Given the description of an element on the screen output the (x, y) to click on. 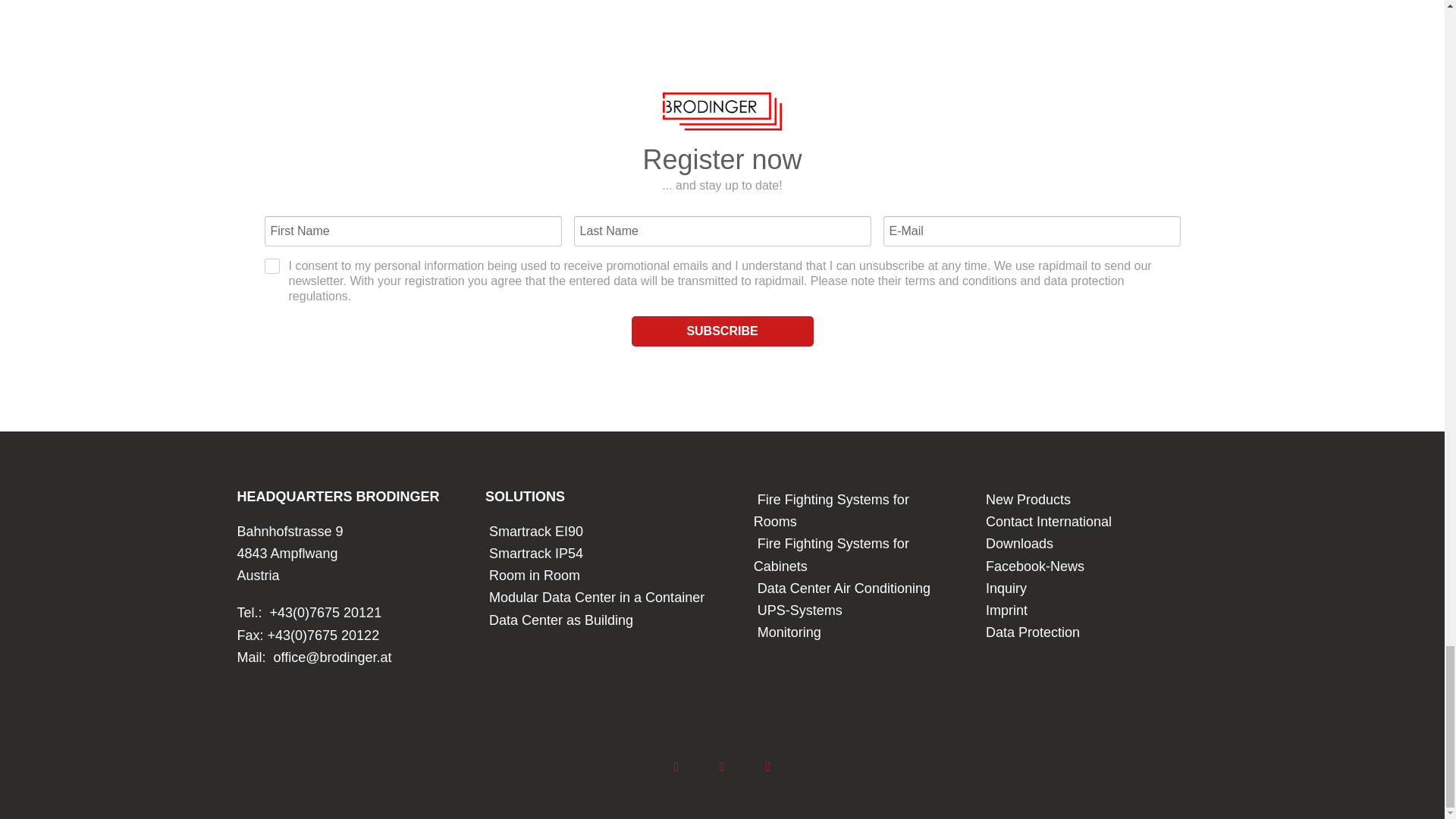
Brodinger IT-Sicherheitstechnik on Youtube (721, 766)
Brodinger IT-Sicherheitstechnik on Xing (768, 766)
Brodinger IT-Sicherheitstechnik on Facebook (676, 766)
